Given the description of an element on the screen output the (x, y) to click on. 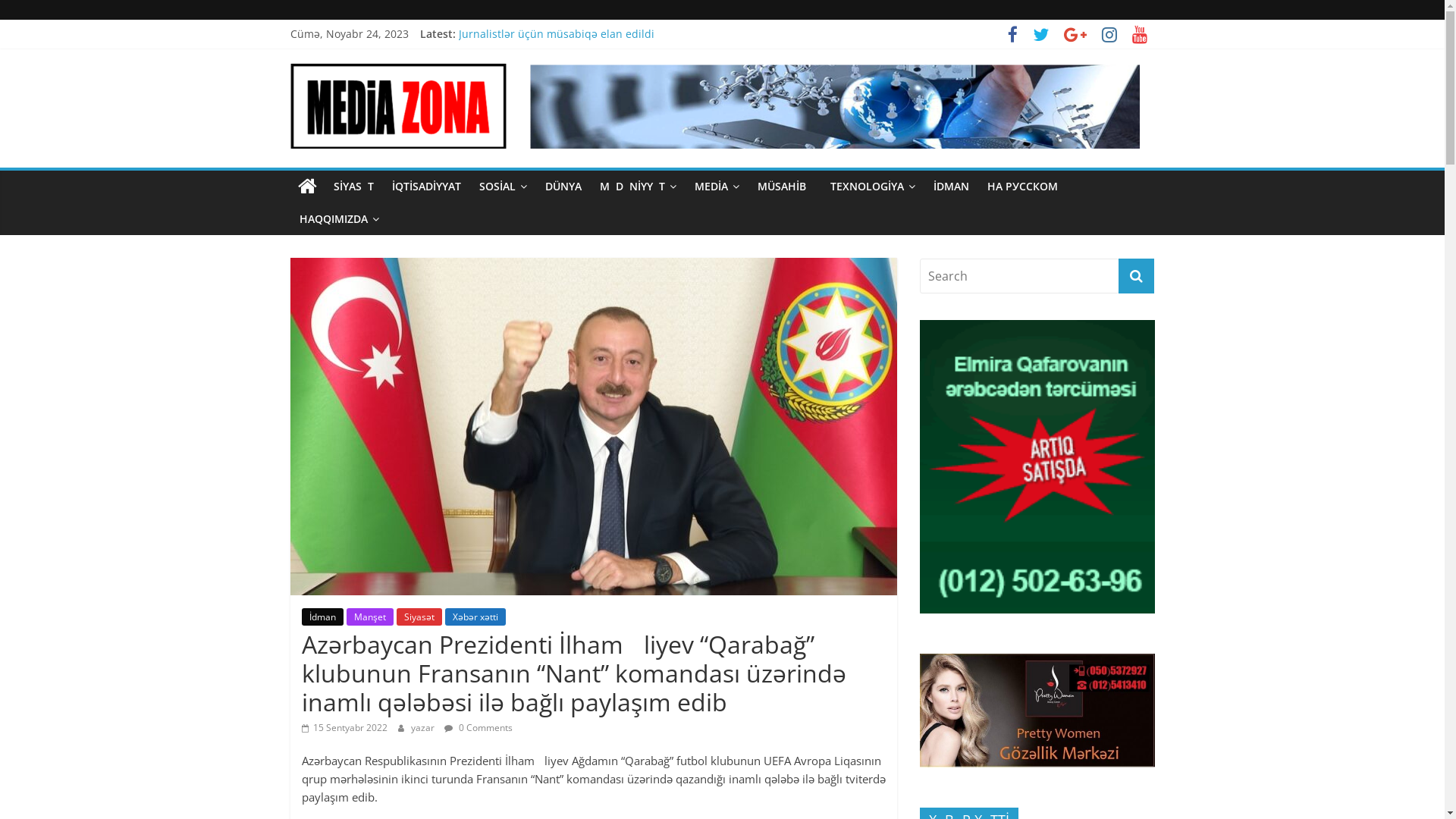
HAQQIMIZDA Element type: text (338, 219)
0 Comments Element type: text (478, 727)
TEXNOLOGIYA Element type: text (871, 186)
MediaZona.Az Element type: text (404, 82)
15 Sentyabr 2022 Element type: text (344, 727)
yazar Element type: text (423, 727)
MediaZona.Az Element type: hover (306, 186)
MEDIA Element type: text (716, 186)
SOSIAL Element type: text (503, 186)
